Given the description of an element on the screen output the (x, y) to click on. 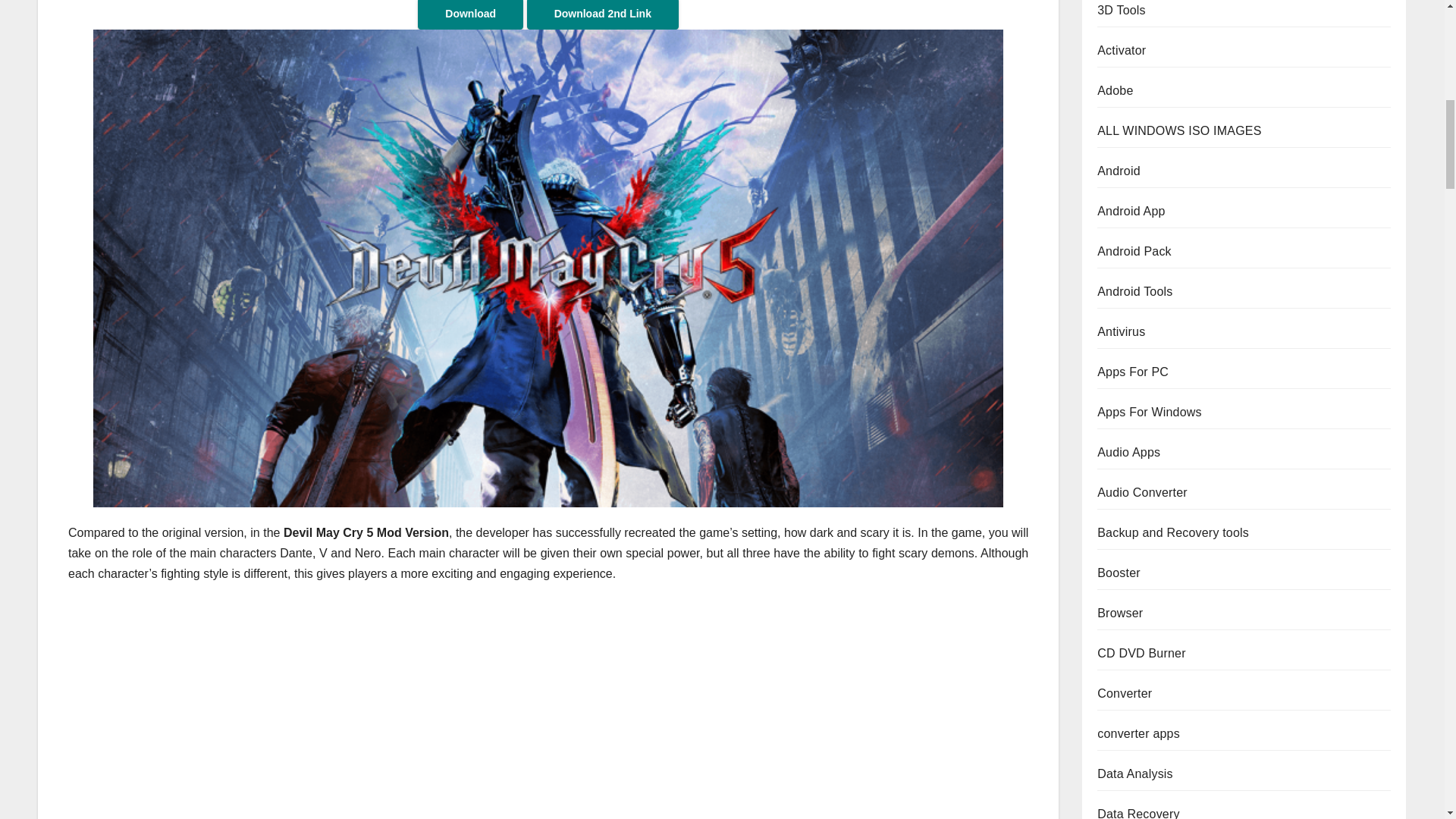
Download (469, 14)
Devil May Cry 5 Special Edition - Launch Trailer (310, 708)
Download 2nd Link (602, 14)
